Given the description of an element on the screen output the (x, y) to click on. 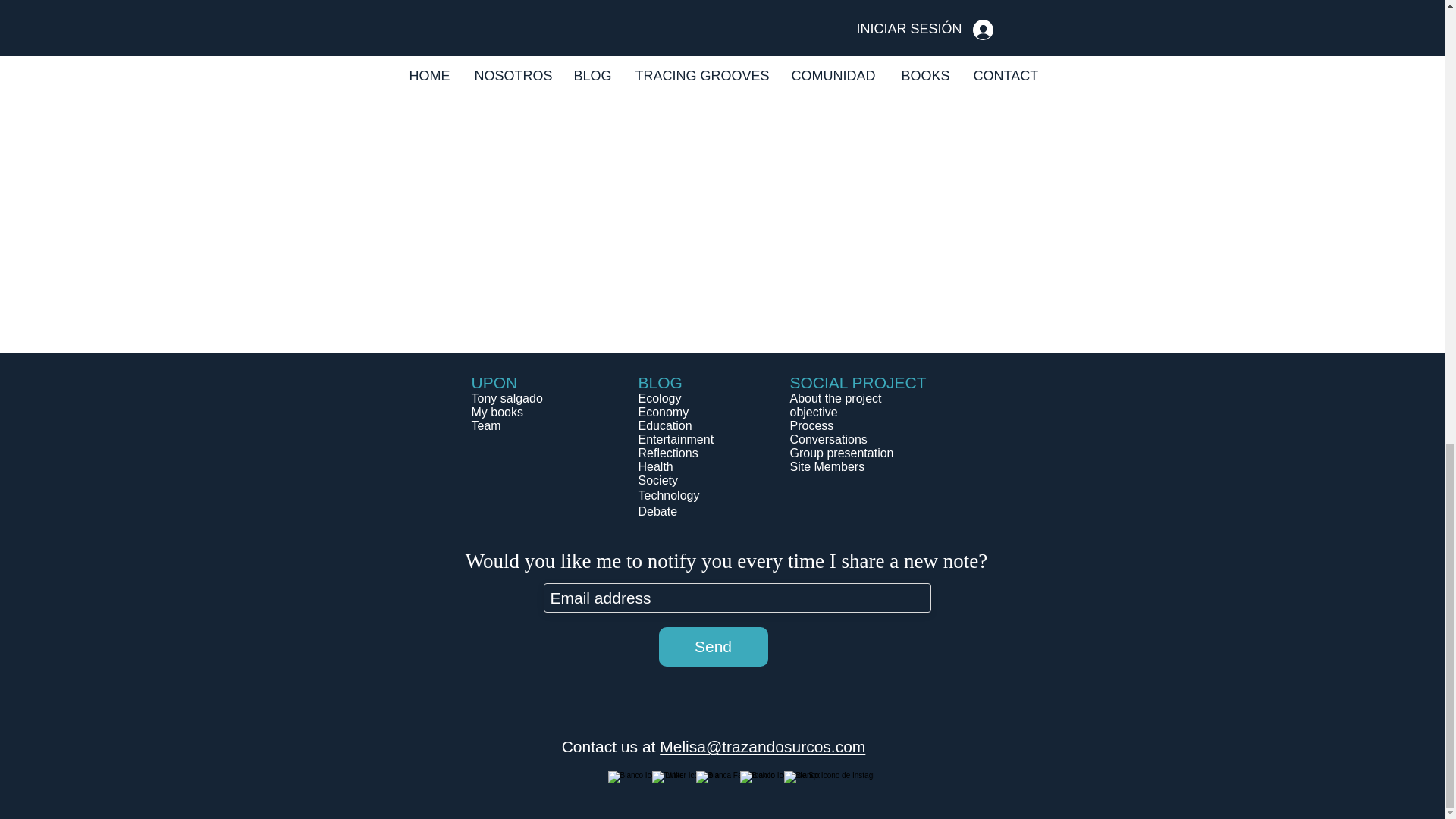
Health (655, 466)
Ecology (660, 398)
Education (666, 425)
Tony salgado (507, 398)
Society (658, 480)
My books (496, 411)
objective (814, 411)
Process (812, 425)
Group presentation (841, 452)
About the project (836, 398)
